Given the description of an element on the screen output the (x, y) to click on. 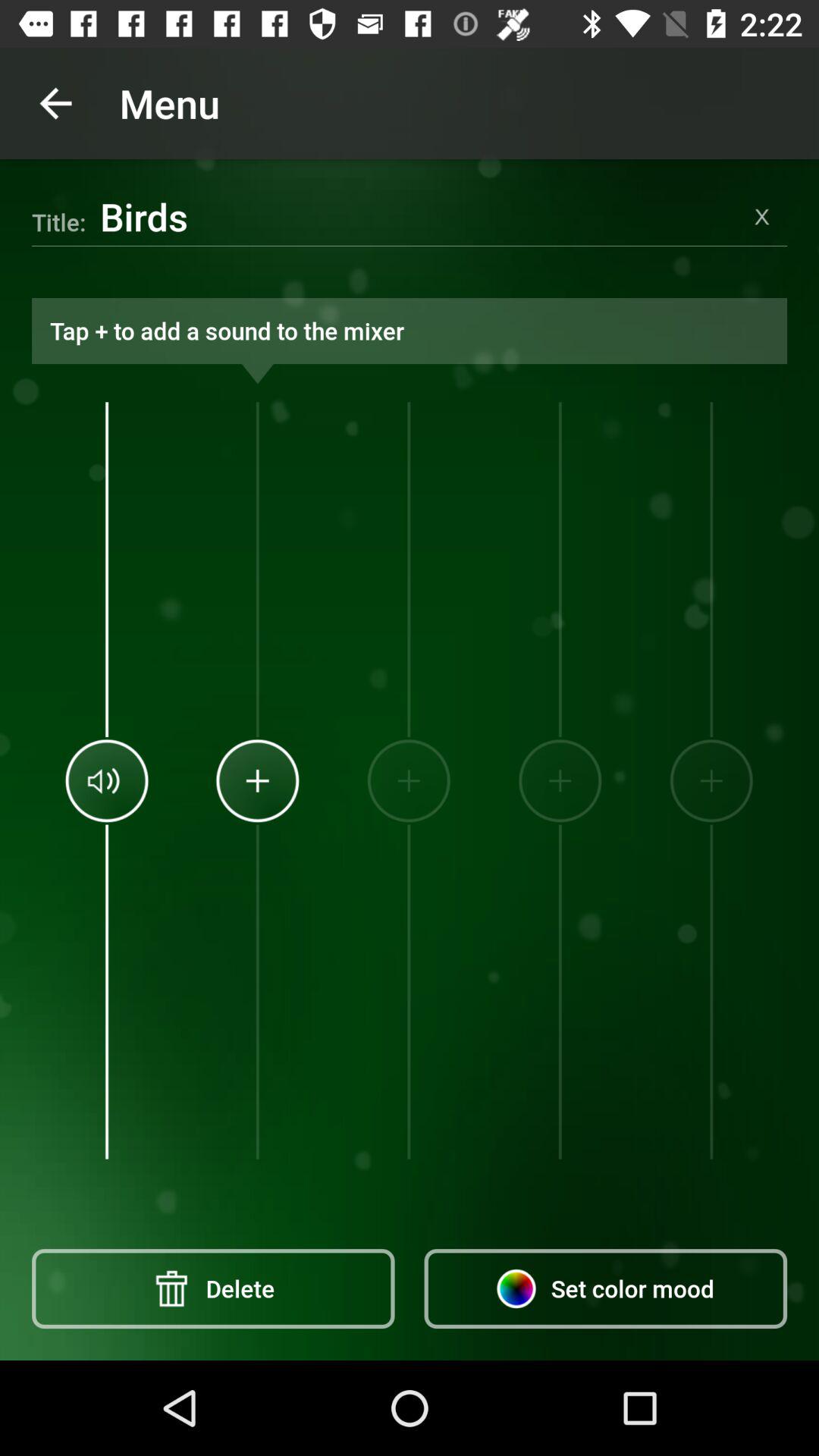
open birds item (418, 216)
